Given the description of an element on the screen output the (x, y) to click on. 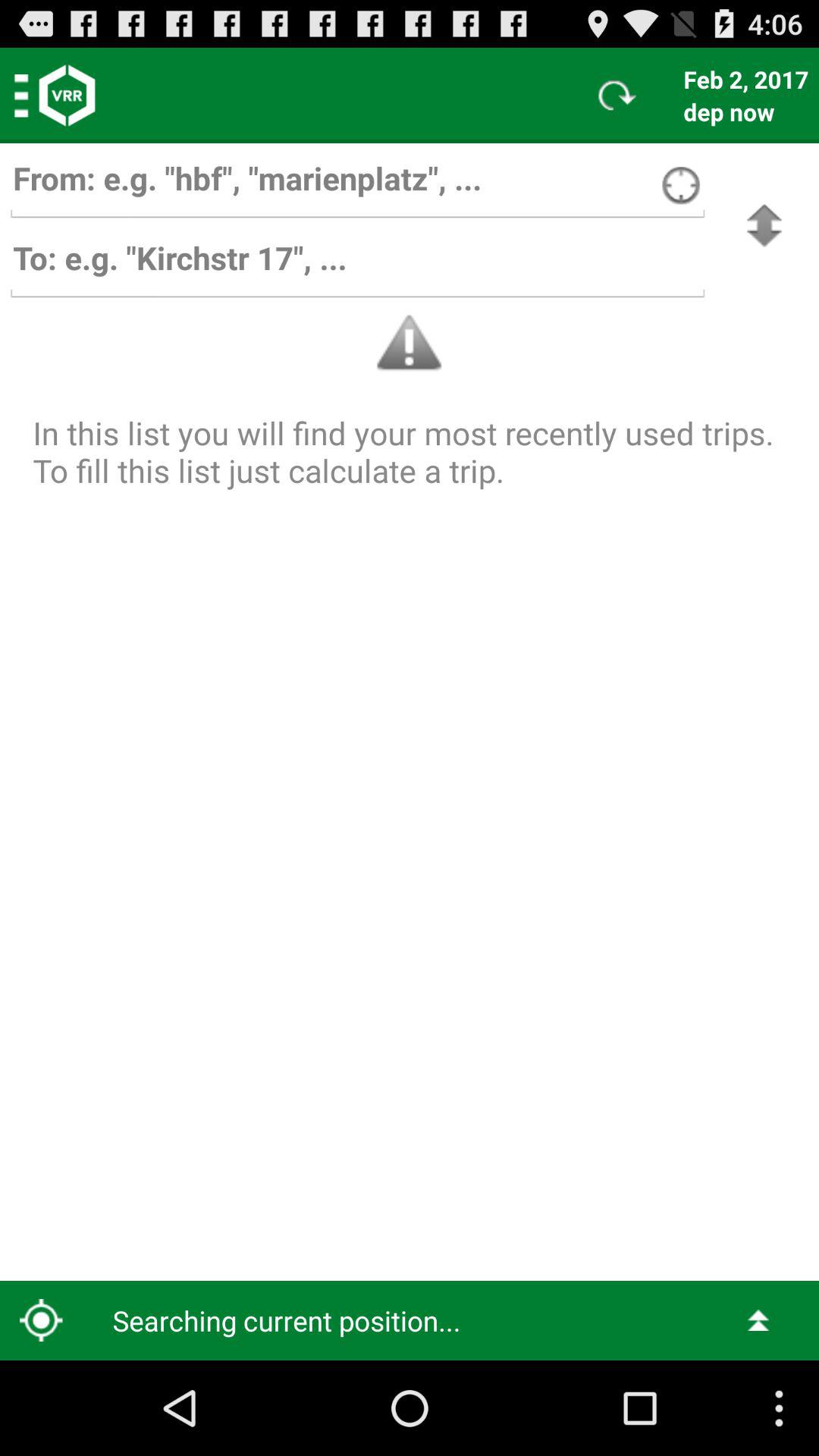
turn off app above in this list (764, 225)
